Given the description of an element on the screen output the (x, y) to click on. 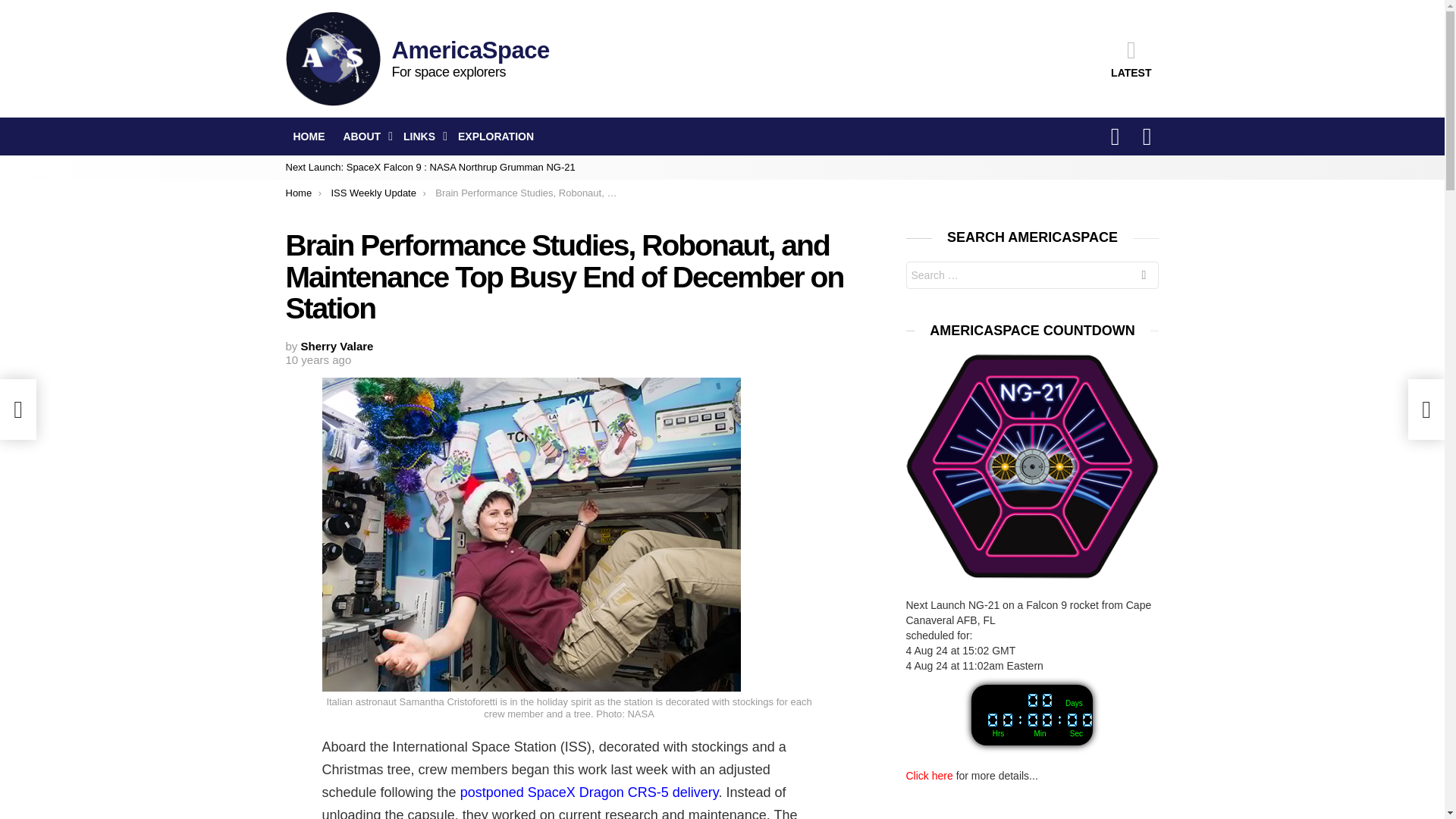
EXPLORATION (495, 136)
Posts by Sherry Valare (337, 345)
ISS Weekly Update (372, 193)
Home (298, 193)
December 29, 2014, 5:10 pm (317, 359)
HOME (308, 136)
Links to other sites (421, 136)
LINKS (421, 136)
Sherry Valare (337, 345)
Next Launch: SpaceX Falcon 9 : NASA Northrup Grumman NG-21 (430, 167)
